Given the description of an element on the screen output the (x, y) to click on. 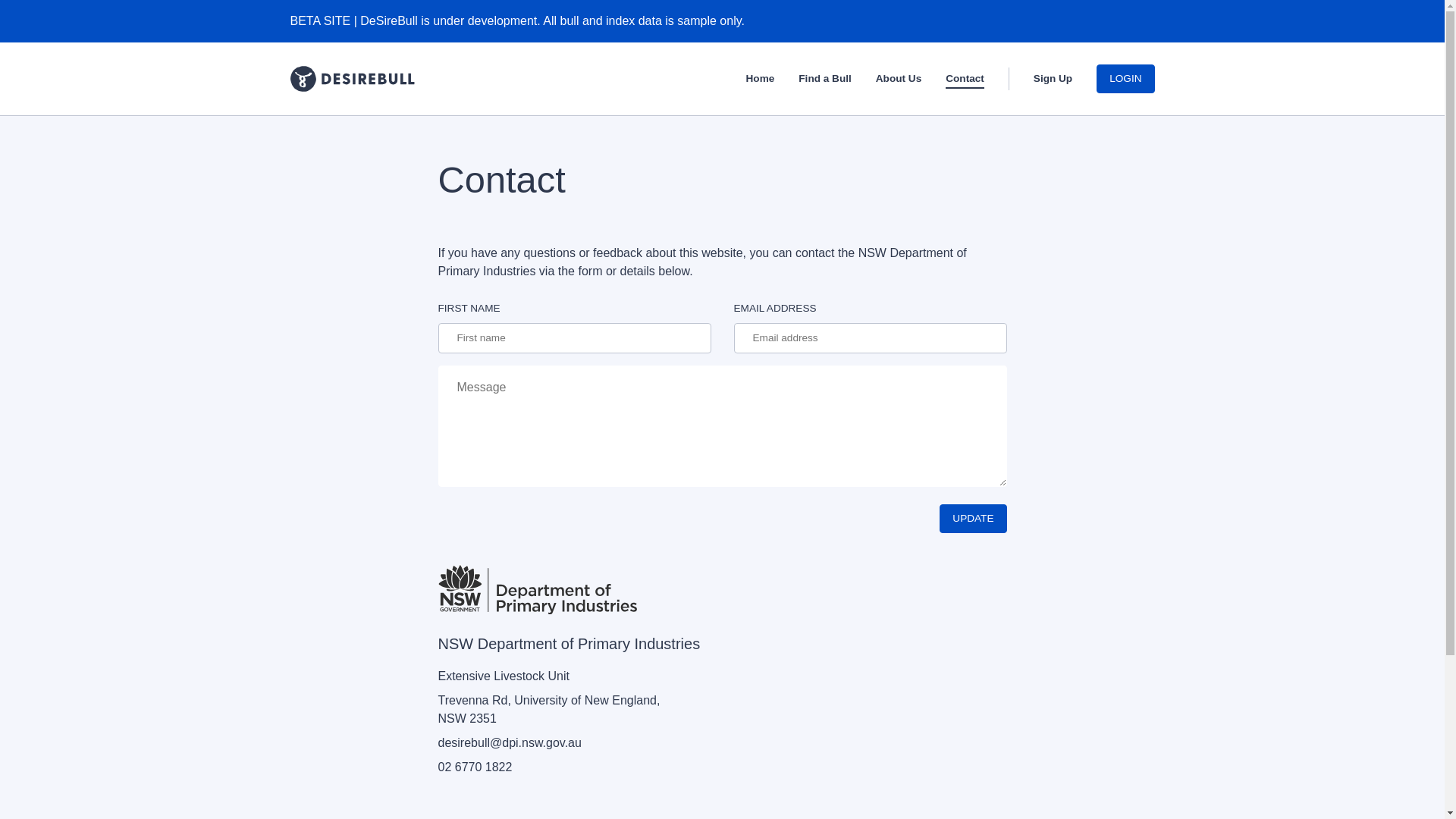
02 6770 1822 Element type: text (475, 766)
UPDATE Element type: text (972, 518)
Contact Element type: text (964, 80)
Find a Bull Element type: text (824, 80)
Sign Up Element type: text (1052, 80)
desirebull@dpi.nsw.gov.au Element type: text (509, 742)
LOGIN Element type: text (1125, 78)
Home Element type: text (760, 80)
About Us Element type: text (898, 80)
